Given the description of an element on the screen output the (x, y) to click on. 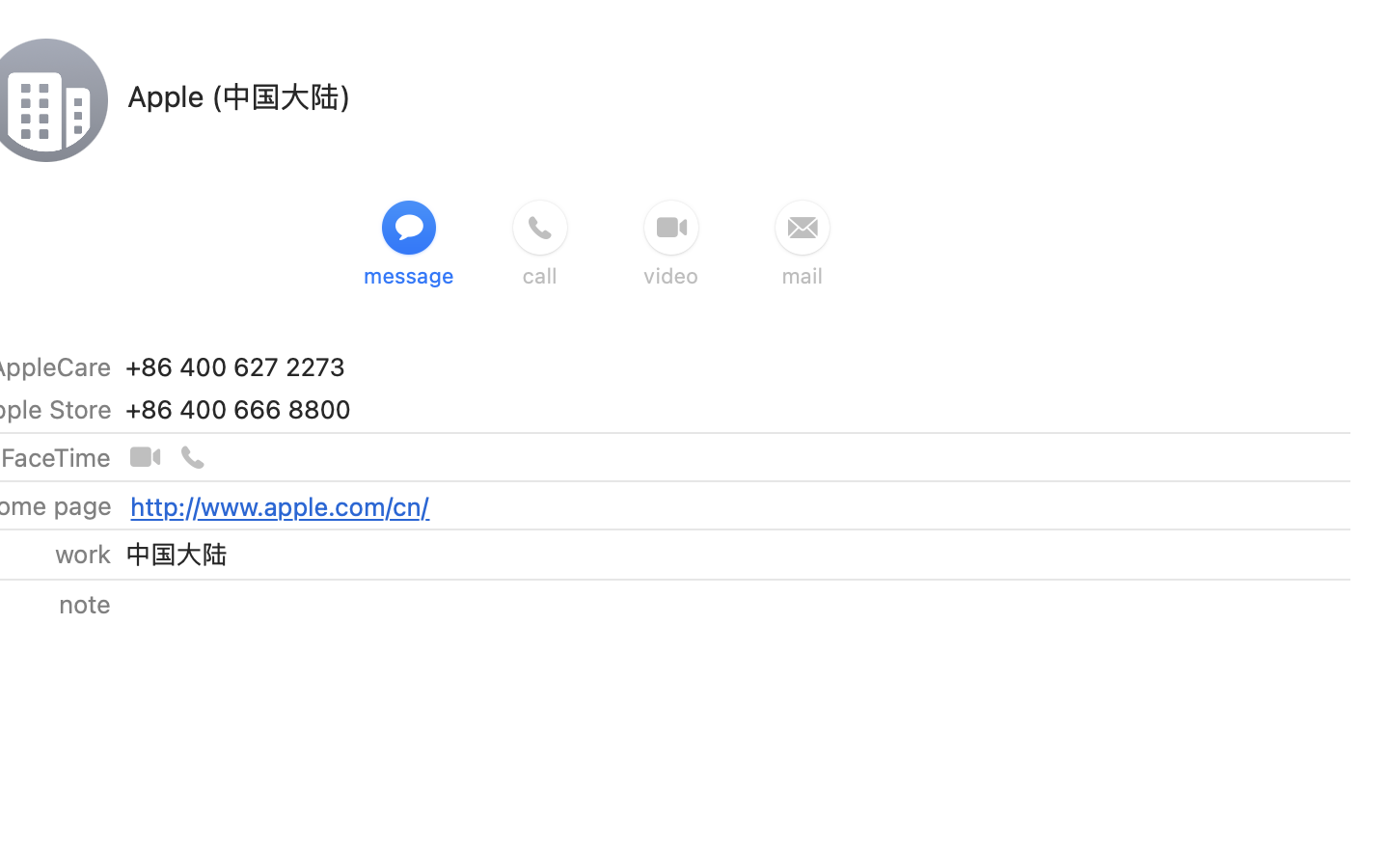
‭+86 400 666 8800‬ Element type: AXStaticText (237, 408)
Apple (中国大陆) Element type: AXStaticText (238, 95)
work Element type: AXStaticText (81, 553)
